Given the description of an element on the screen output the (x, y) to click on. 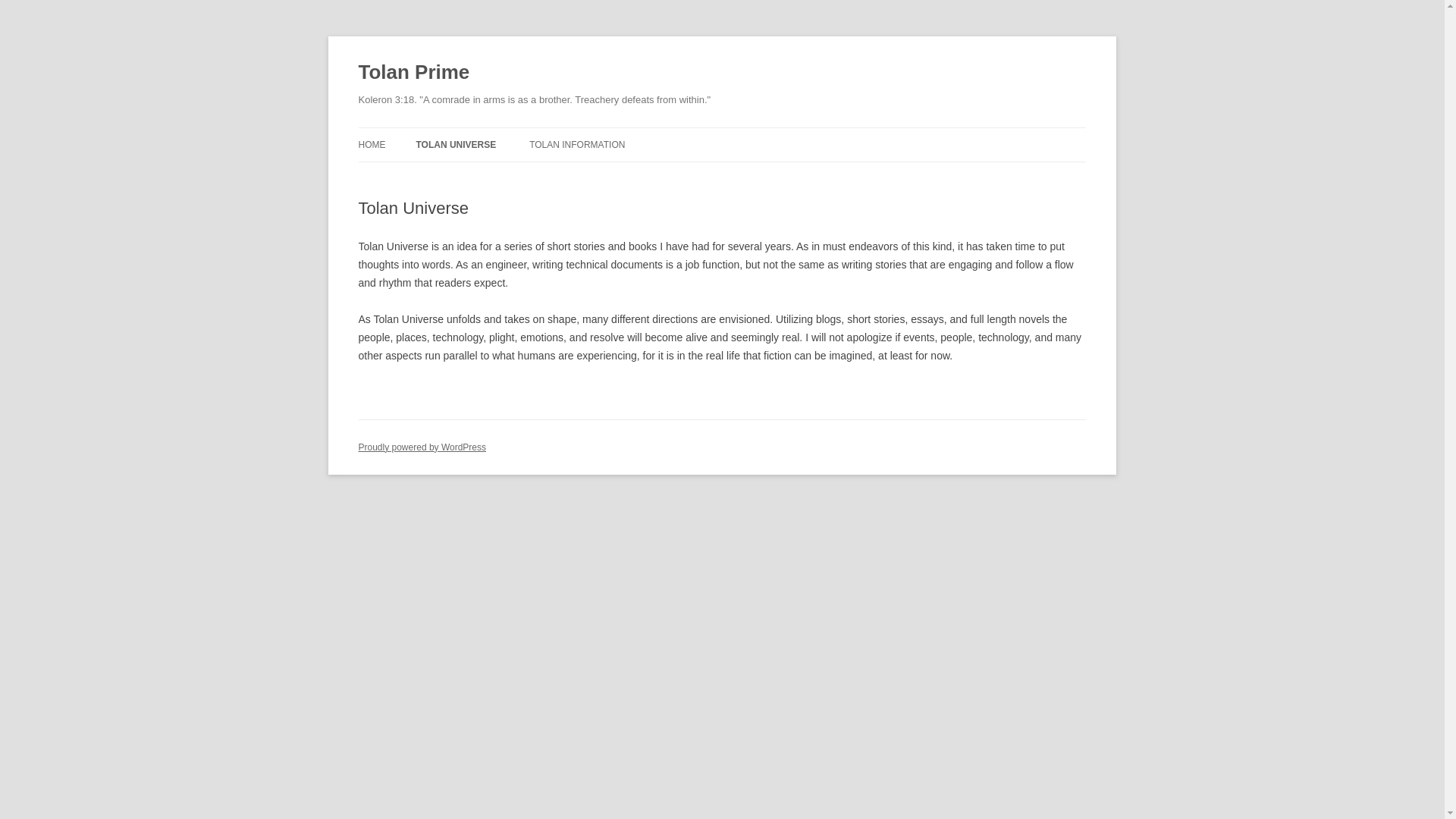
Tolan Prime (413, 72)
TOLAN PRIME (490, 176)
TOLAN UNIVERSE (455, 144)
TOLAN INFORMATION (576, 144)
Tolan Prime (413, 72)
PEOPLE (605, 176)
